Given the description of an element on the screen output the (x, y) to click on. 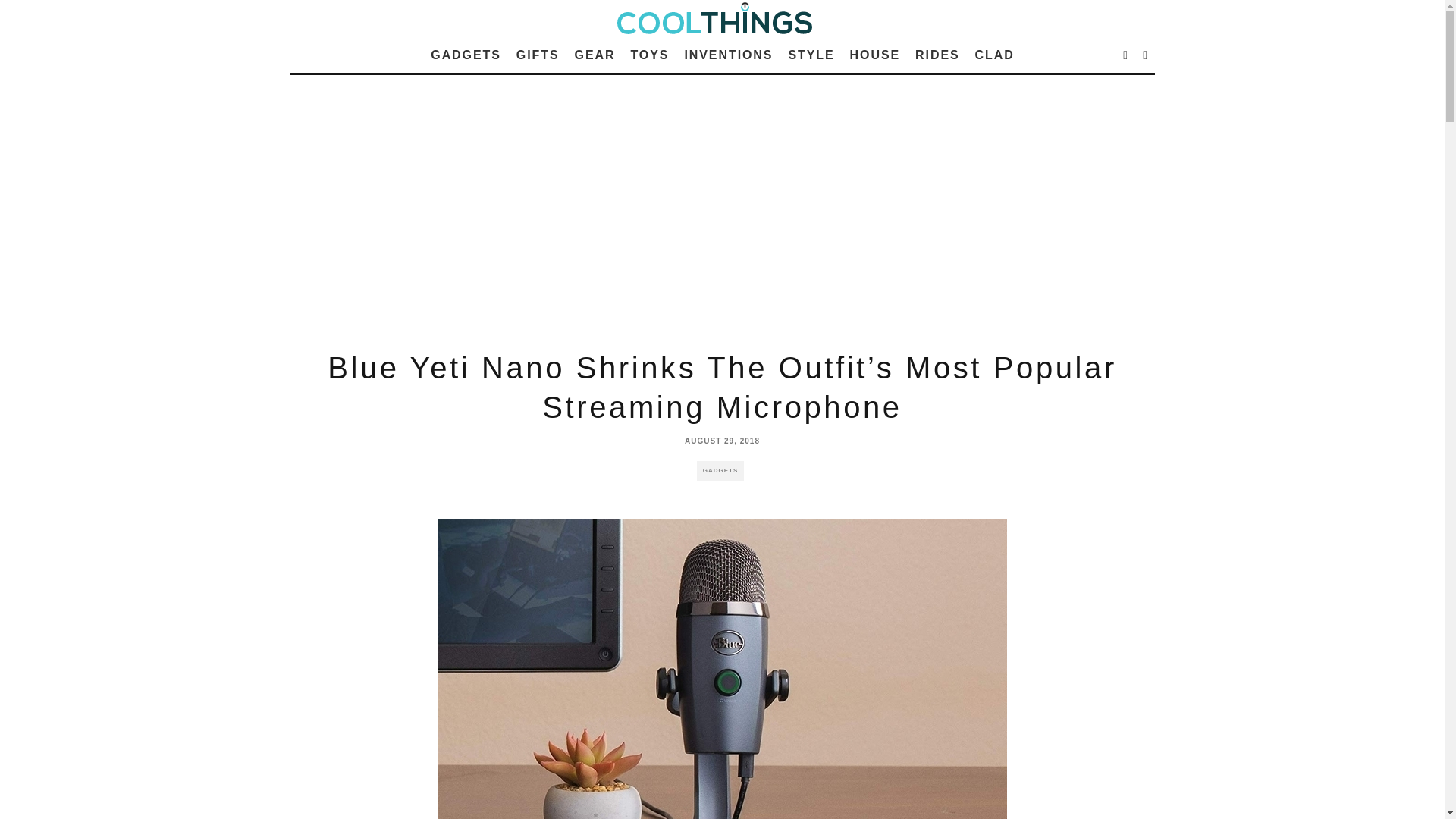
GADGETS (465, 54)
GEAR (594, 54)
STYLE (810, 54)
GIFTS (537, 54)
INVENTIONS (728, 54)
TOYS (650, 54)
